Given the description of an element on the screen output the (x, y) to click on. 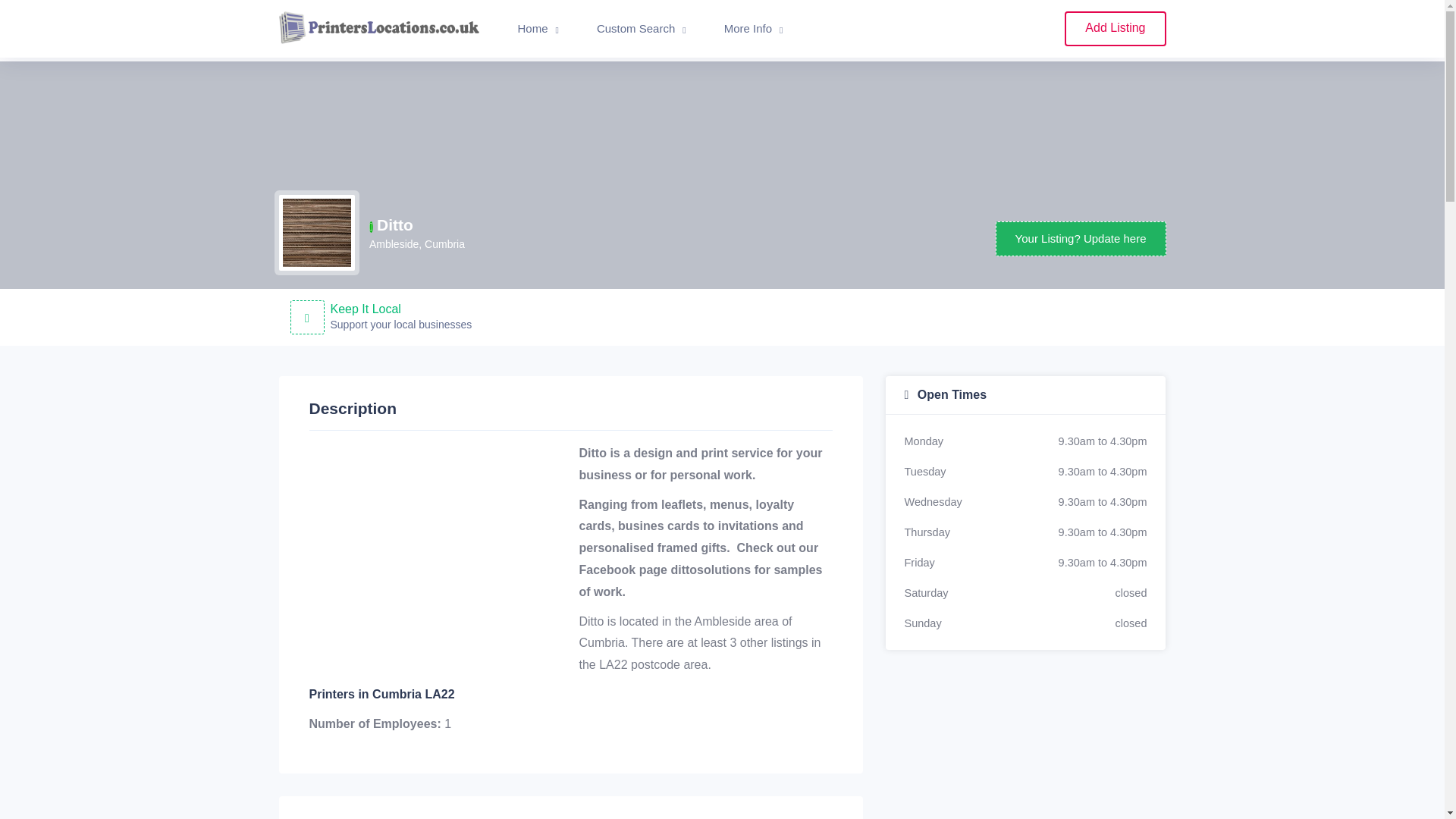
Printers in Cumbria LA22 (381, 694)
Custom Search (641, 28)
Your Listing? Update here (1080, 239)
Home (538, 28)
More Info (753, 28)
Add Listing (1115, 28)
